Given the description of an element on the screen output the (x, y) to click on. 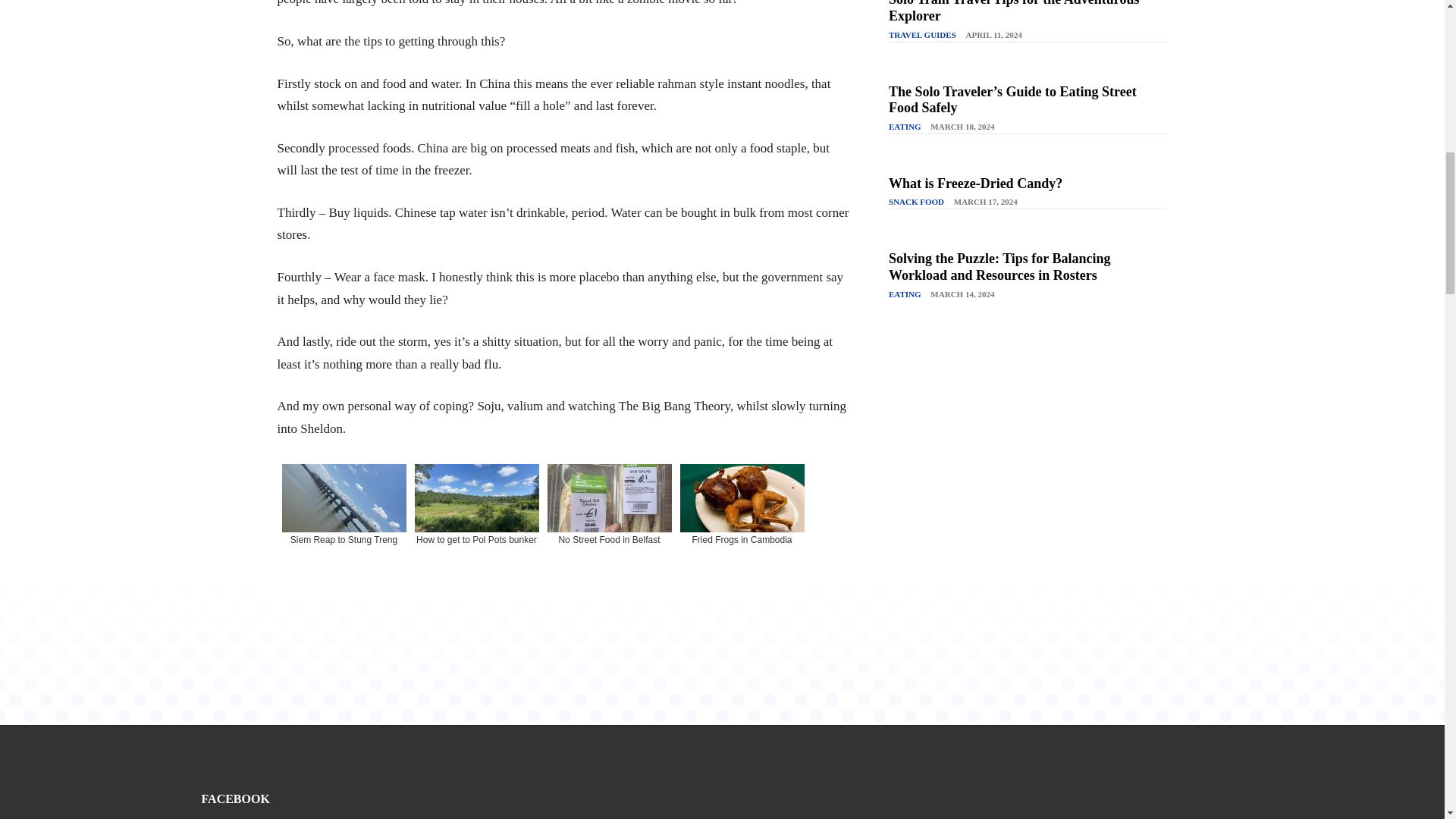
Solo Train Travel Tips for the Adventurous Explorer (1013, 11)
What is Freeze-Dried Candy? (975, 183)
